Given the description of an element on the screen output the (x, y) to click on. 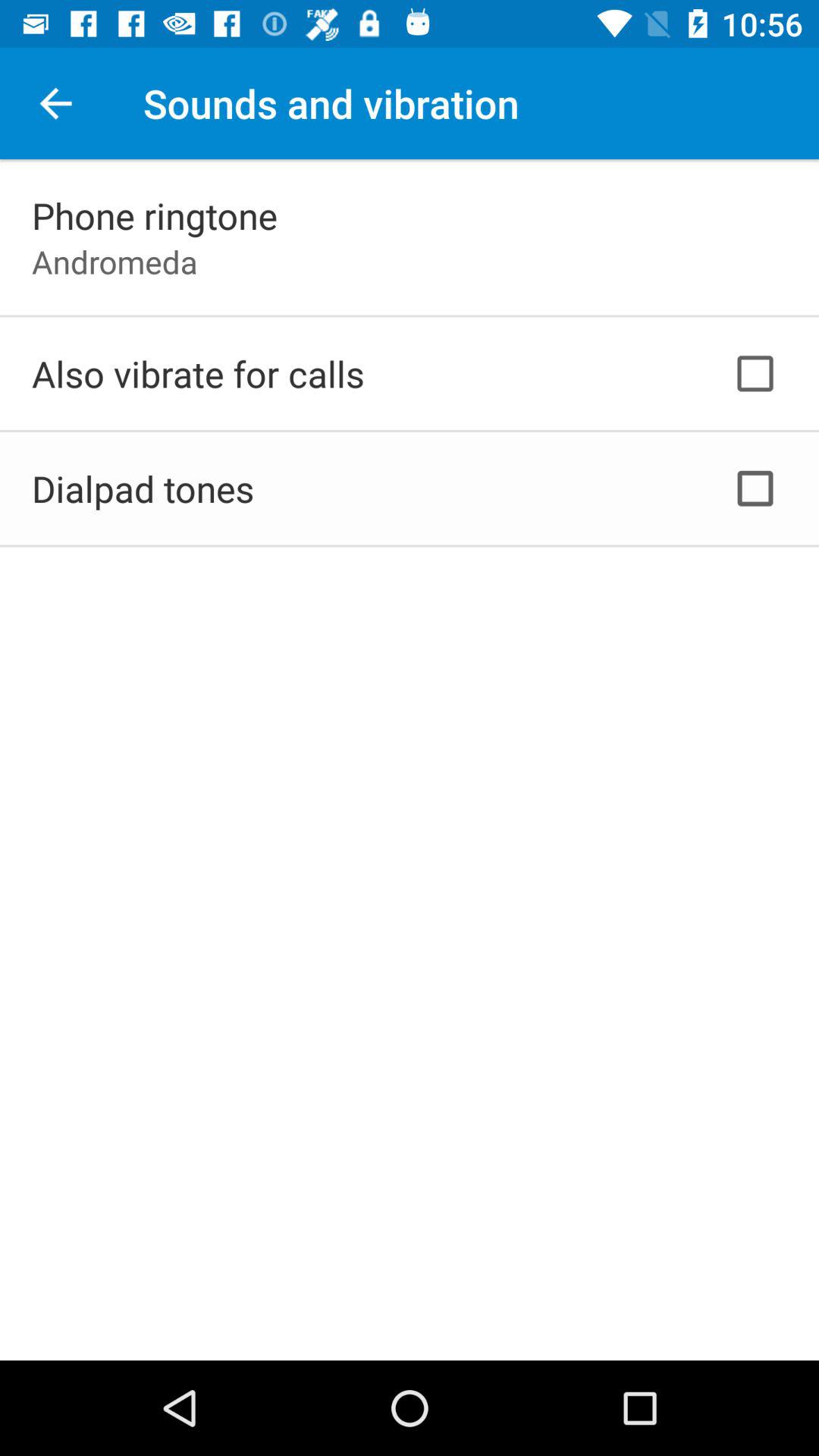
press the andromeda (114, 261)
